Given the description of an element on the screen output the (x, y) to click on. 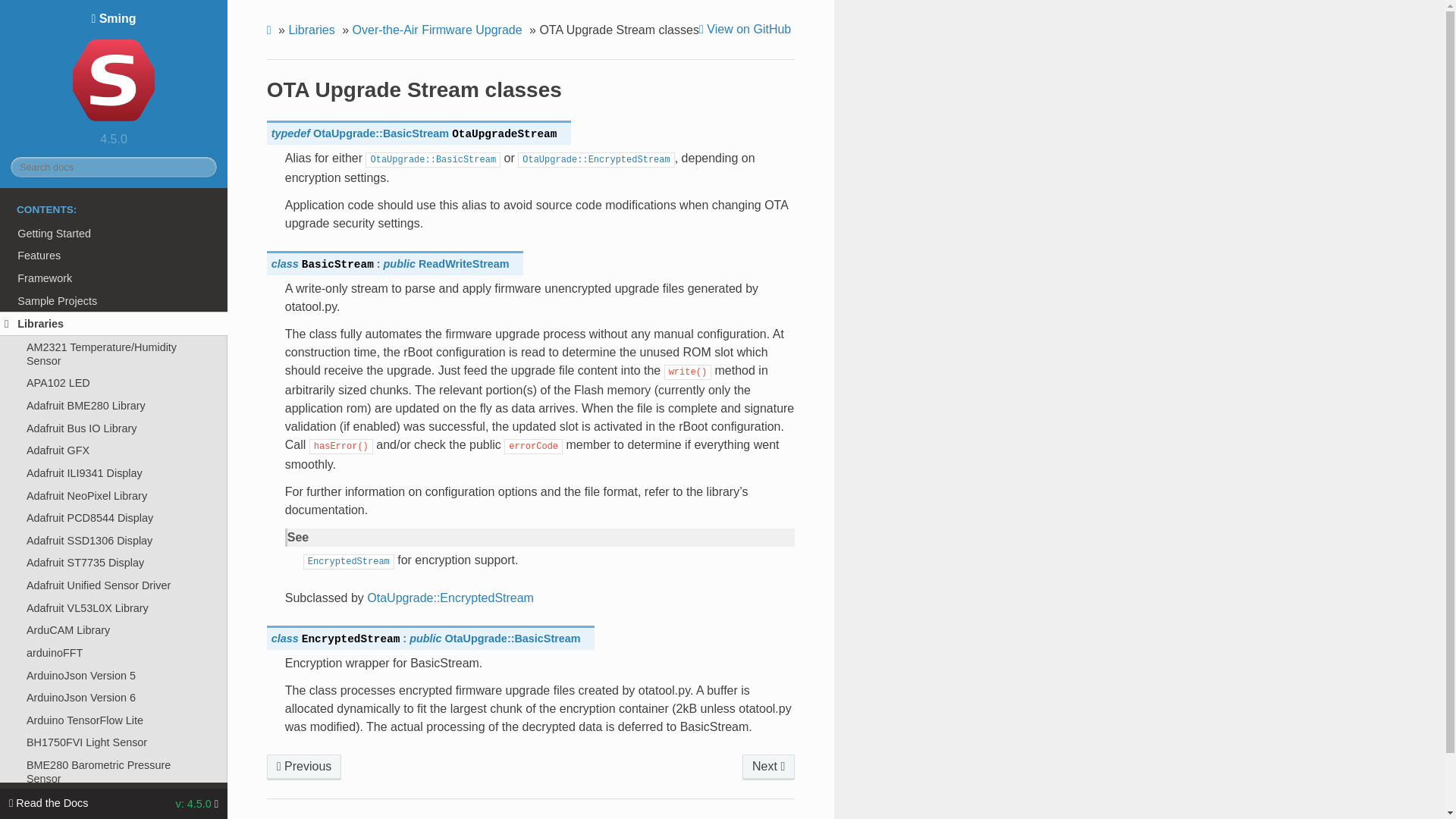
Getting Started (113, 232)
Framework (113, 277)
ArduinoJson Version 5 (113, 675)
Adafruit PCD8544 Display (113, 517)
Adafruit ILI9341 Display (113, 472)
Sample Projects (113, 300)
OTA Firmware Upgrade via MQTT (768, 767)
ReadWriteStream (464, 263)
ArduCAM Library (113, 630)
Adafruit VL53L0X Library (113, 608)
